Given the description of an element on the screen output the (x, y) to click on. 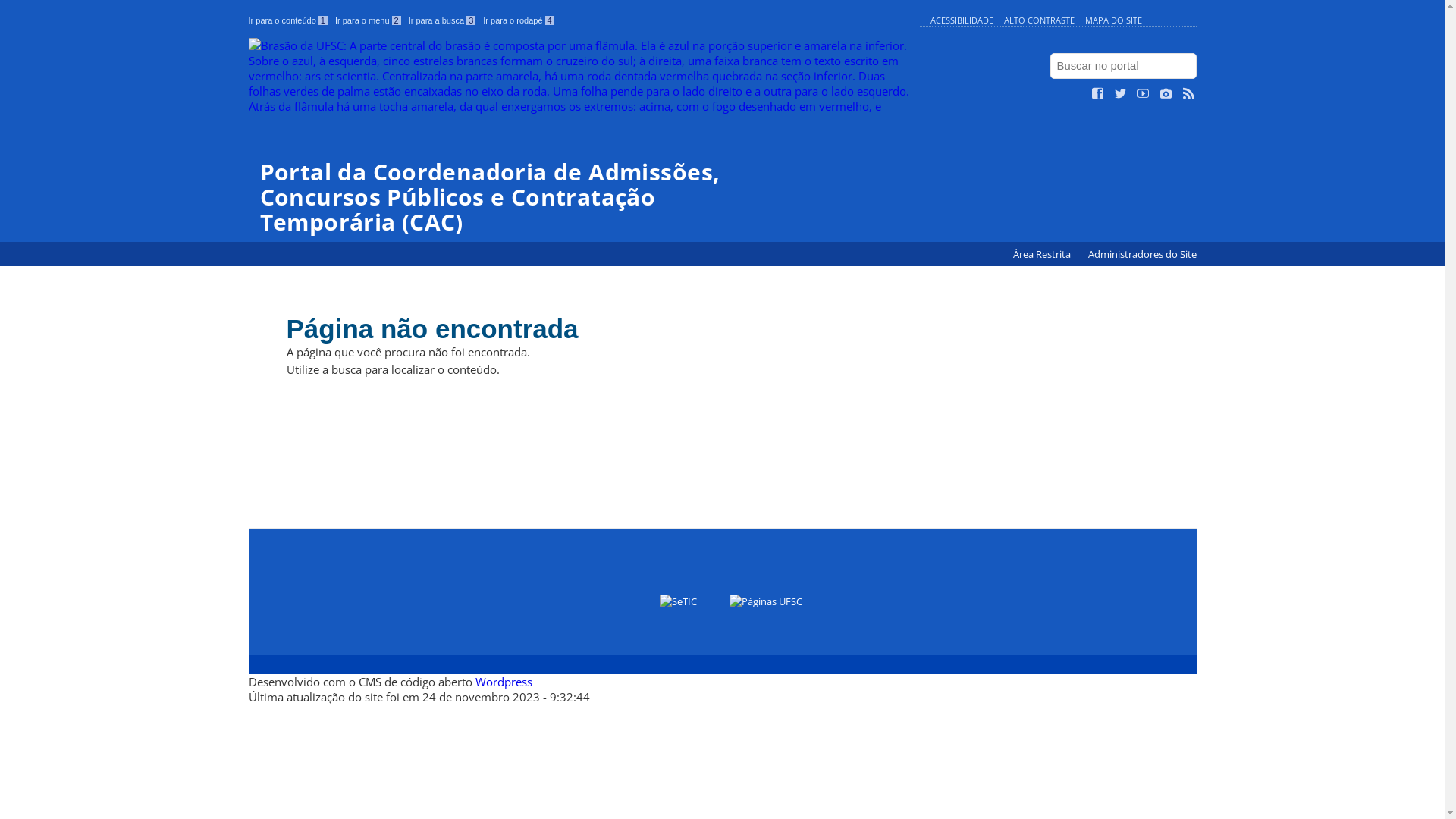
Curta no Facebook Element type: hover (1098, 93)
MAPA DO SITE Element type: text (1112, 19)
Ir para a busca 3 Element type: text (442, 20)
ALTO CONTRASTE Element type: text (1039, 19)
Wordpress Element type: text (502, 681)
Administradores do Site Element type: text (1141, 253)
Siga no Twitter Element type: hover (1120, 93)
Veja no Instagram Element type: hover (1166, 93)
ACESSIBILIDADE Element type: text (960, 19)
Ir para o menu 2 Element type: text (368, 20)
